Given the description of an element on the screen output the (x, y) to click on. 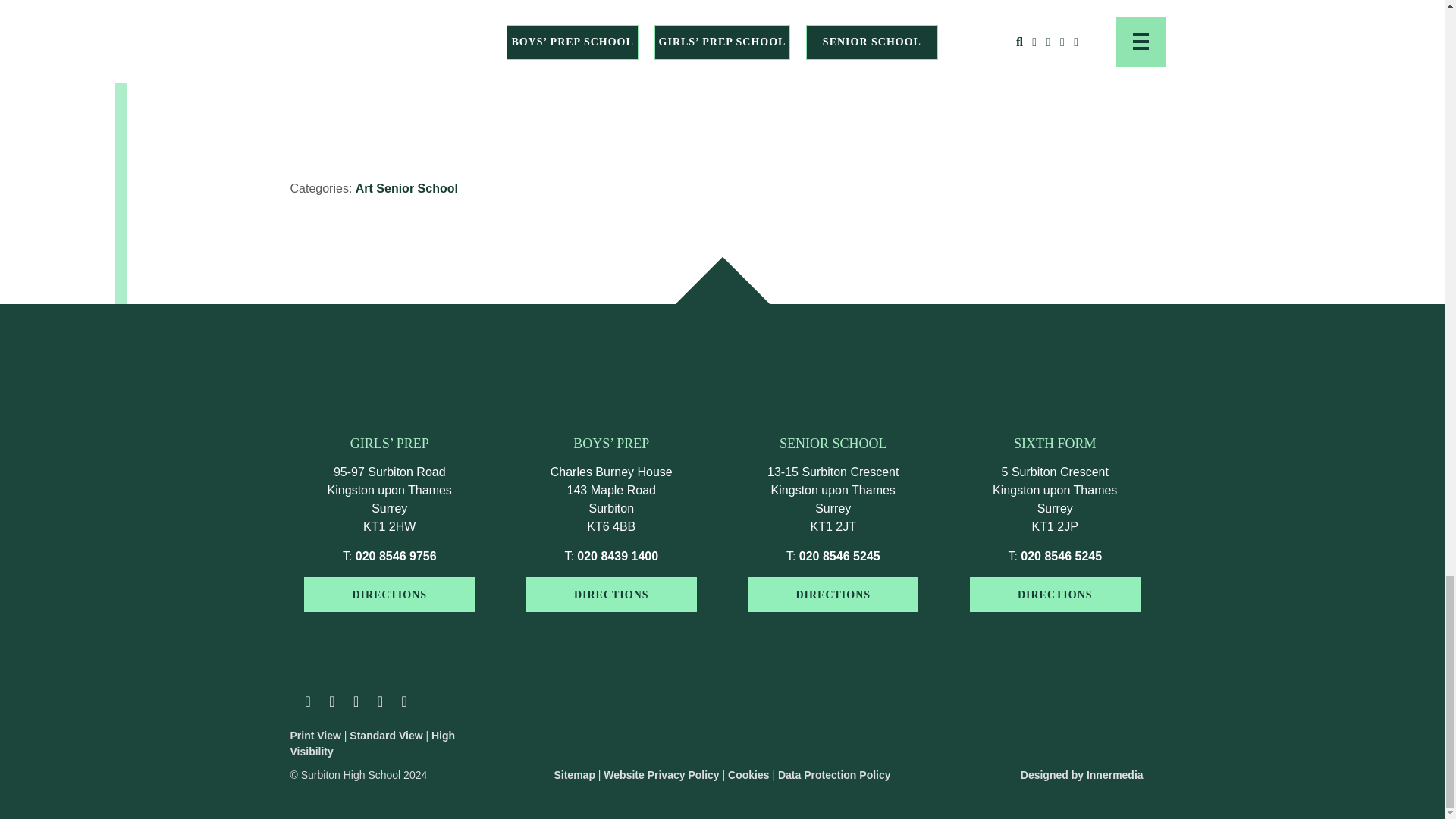
Switch to Print (314, 735)
Switch to Standard Visibility (385, 735)
Switch to High Visibility (371, 743)
